Given the description of an element on the screen output the (x, y) to click on. 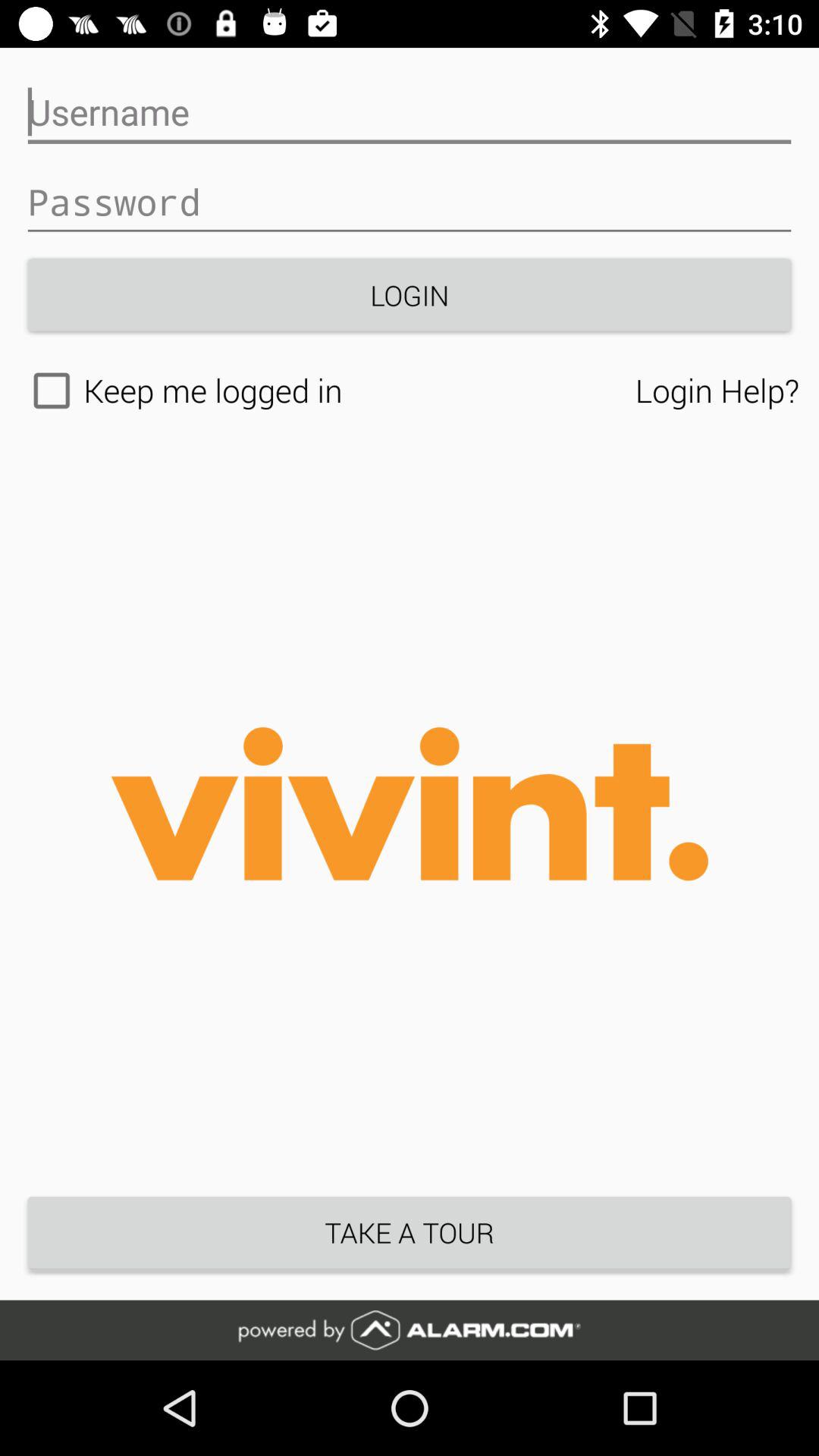
jump until take a tour (409, 1232)
